Given the description of an element on the screen output the (x, y) to click on. 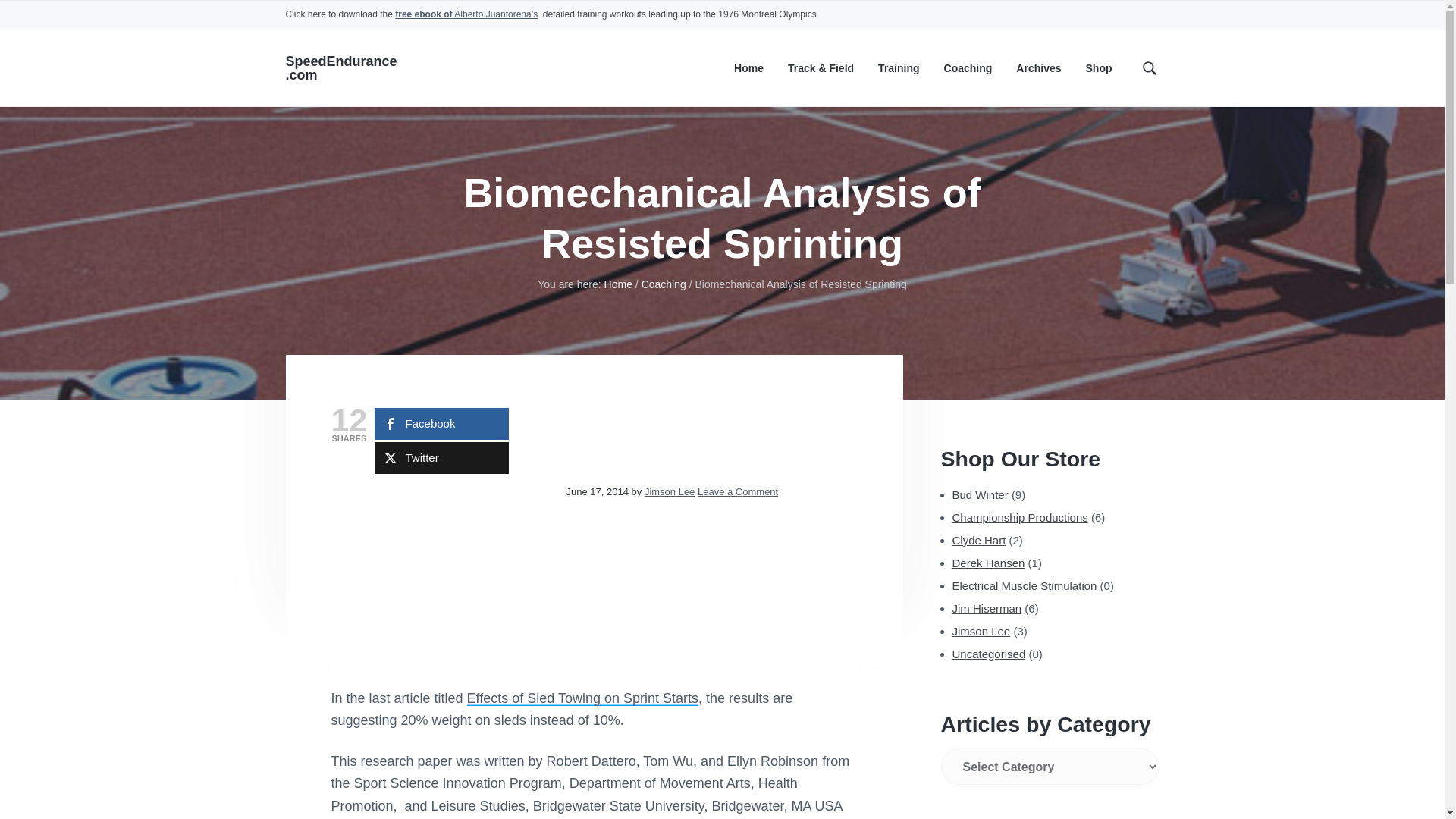
Shop (1099, 67)
Archives (1038, 67)
Coaching (967, 67)
SpeedEndurance.com (340, 68)
Training (897, 67)
Home (617, 284)
Advertisement (443, 585)
Home (747, 67)
Search (60, 18)
Coaching (663, 284)
